Given the description of an element on the screen output the (x, y) to click on. 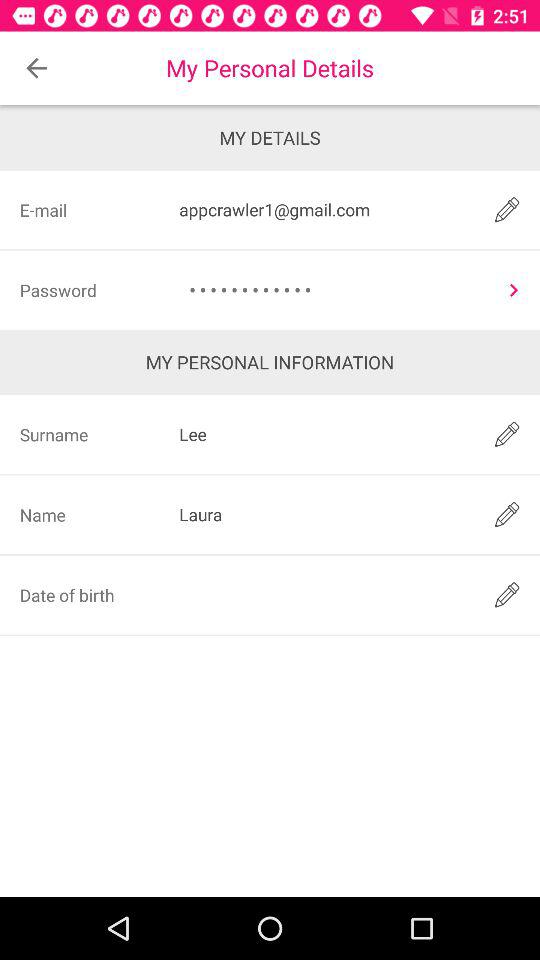
edit surname (506, 434)
